Given the description of an element on the screen output the (x, y) to click on. 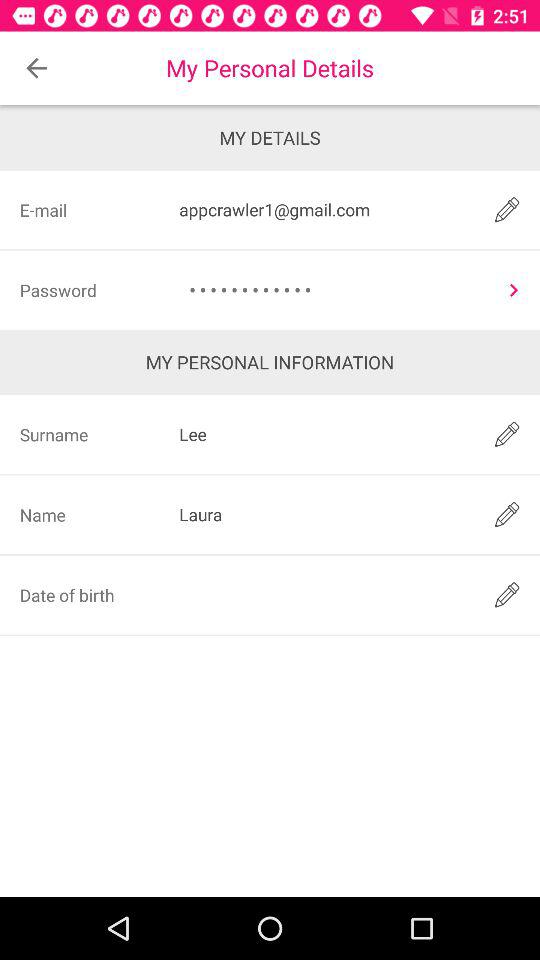
edit surname (506, 434)
